Given the description of an element on the screen output the (x, y) to click on. 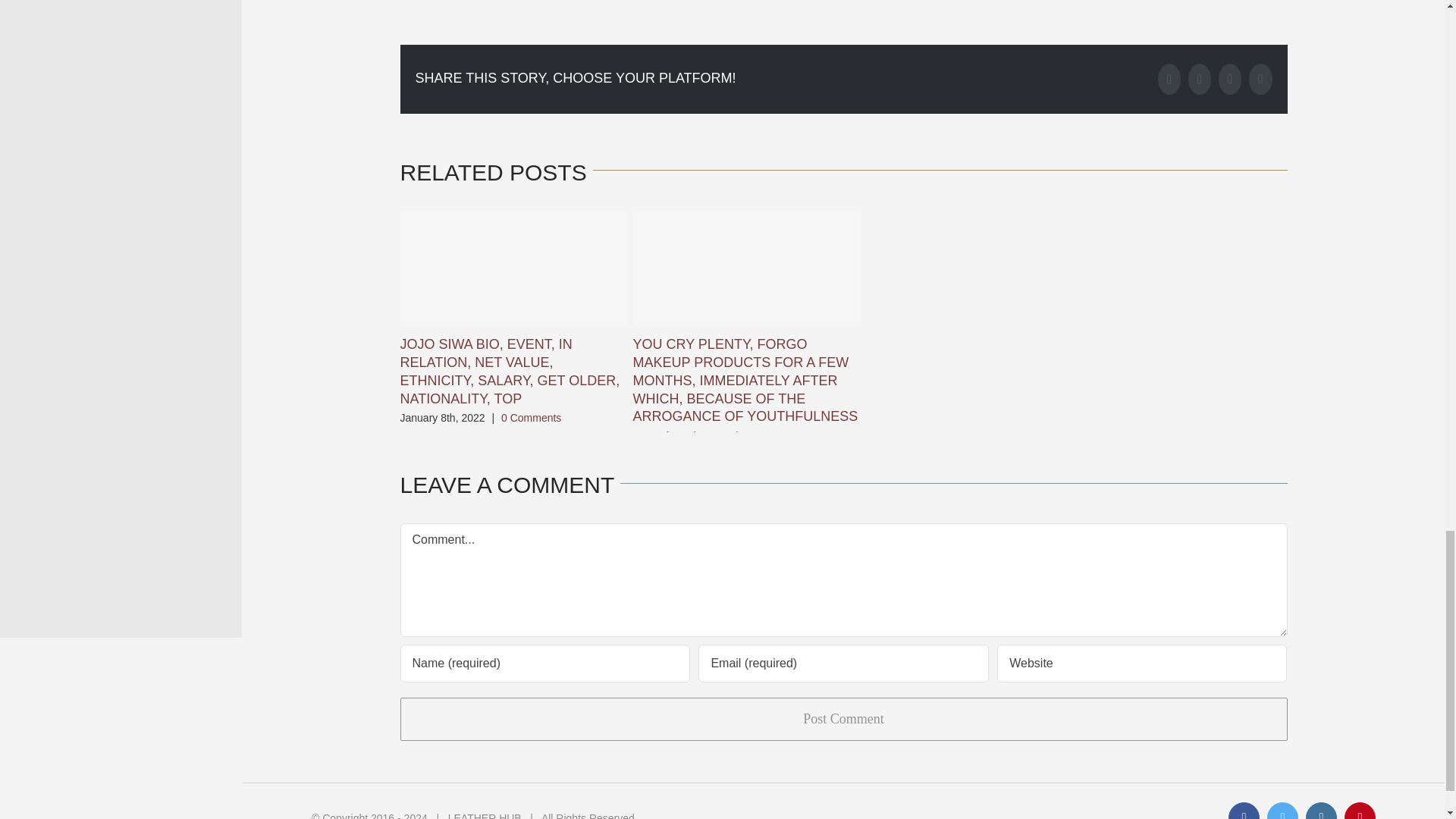
Facebook (1168, 79)
0 Comments (775, 435)
Twitter (1199, 79)
Post Comment (843, 719)
Pinterest (1260, 79)
Post Comment (843, 719)
Tumblr (1229, 79)
0 Comments (530, 417)
